Given the description of an element on the screen output the (x, y) to click on. 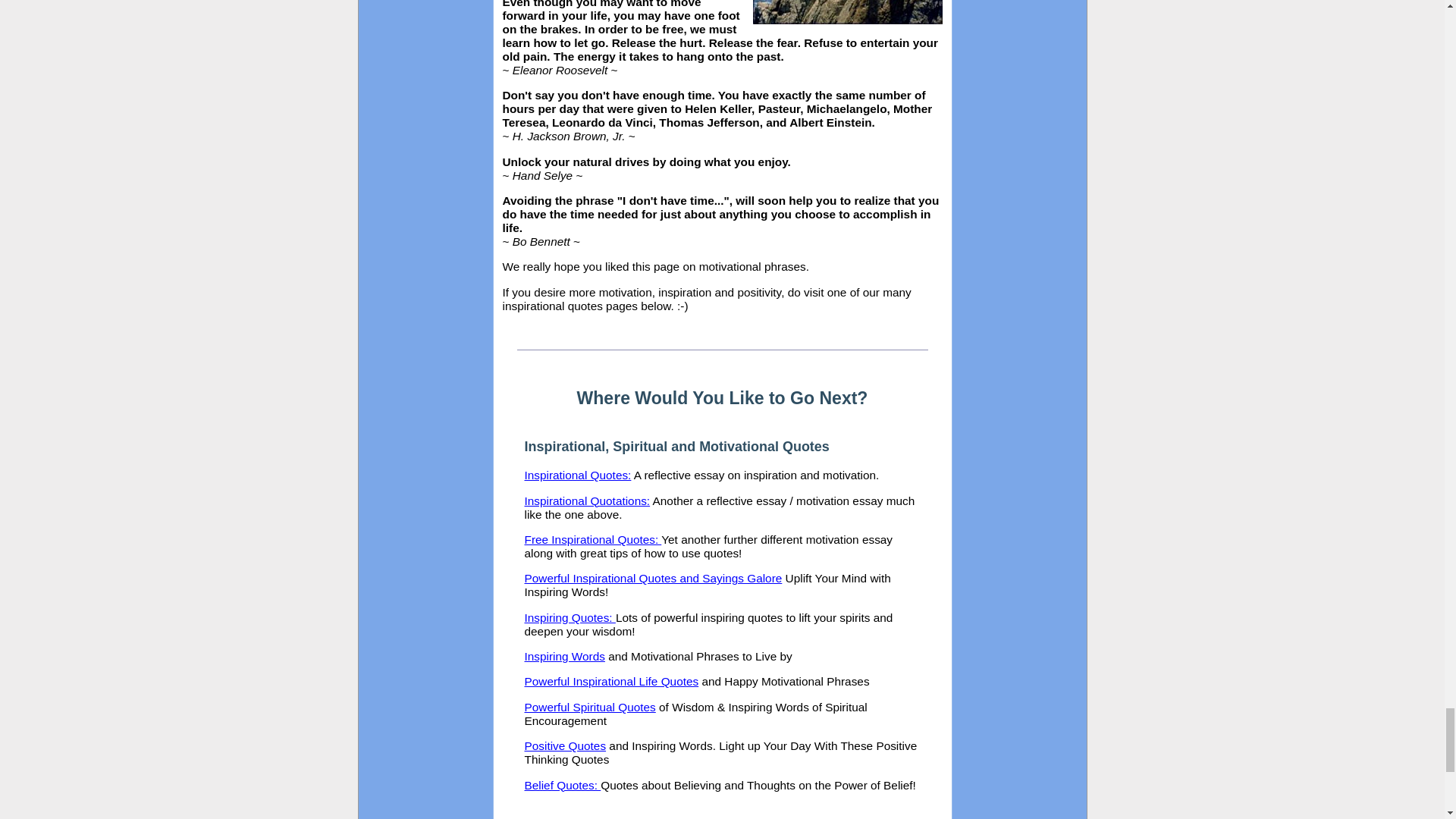
Positive Quotes (565, 745)
Inspiring Quotes: (569, 617)
Inspiring Words (564, 656)
Inspirational Quotations: (587, 500)
Powerful Spiritual Quotes (590, 707)
Inspirational Quotes: (577, 474)
Belief Quotes: (562, 784)
Powerful Inspirational Life Quotes (611, 680)
Free Inspirational Quotes: (593, 539)
Powerful Inspirational Quotes and Sayings Galore (653, 577)
